Given the description of an element on the screen output the (x, y) to click on. 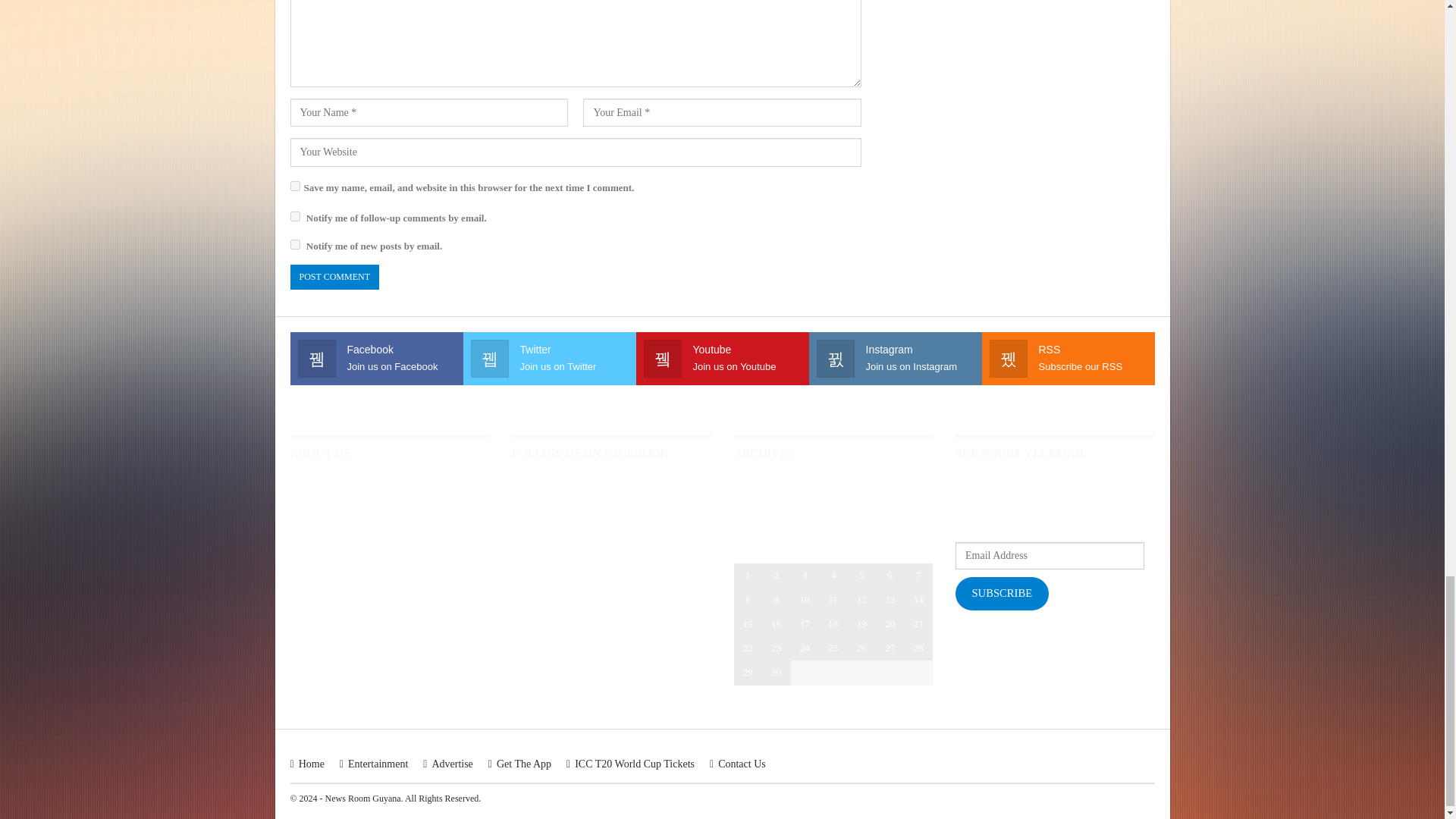
yes (294, 185)
subscribe (294, 244)
subscribe (294, 216)
Post Comment (333, 276)
